Given the description of an element on the screen output the (x, y) to click on. 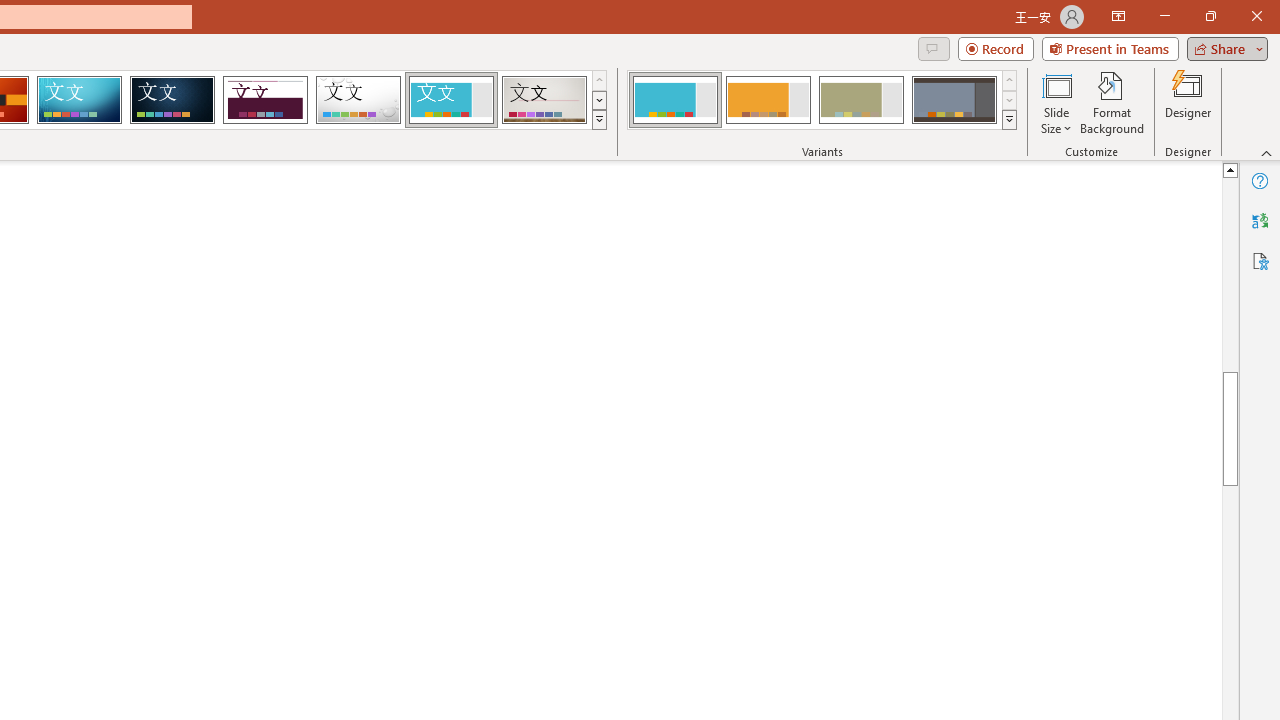
Droplet (358, 100)
